Given the description of an element on the screen output the (x, y) to click on. 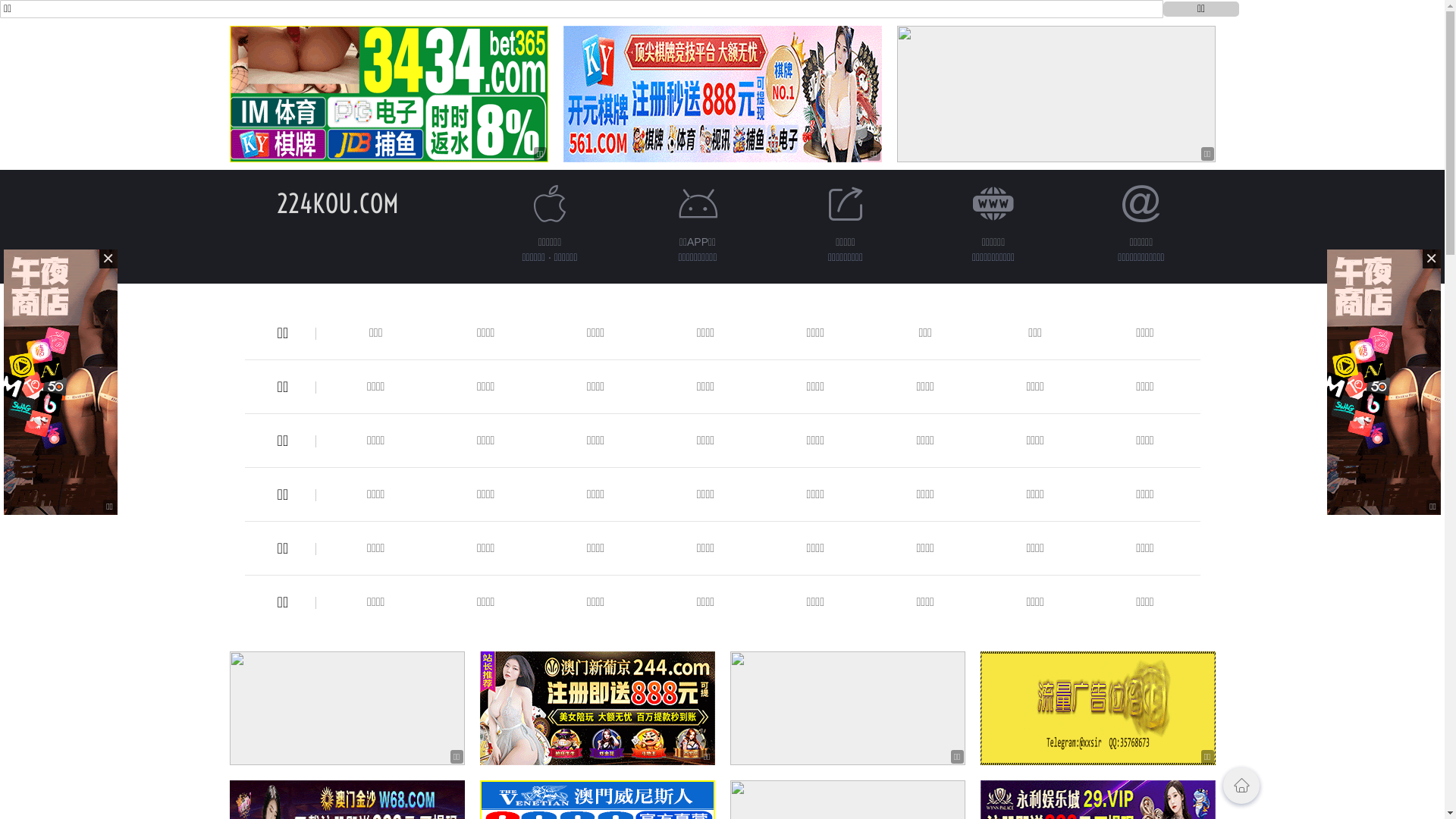
224KOU.COM Element type: text (337, 203)
